Given the description of an element on the screen output the (x, y) to click on. 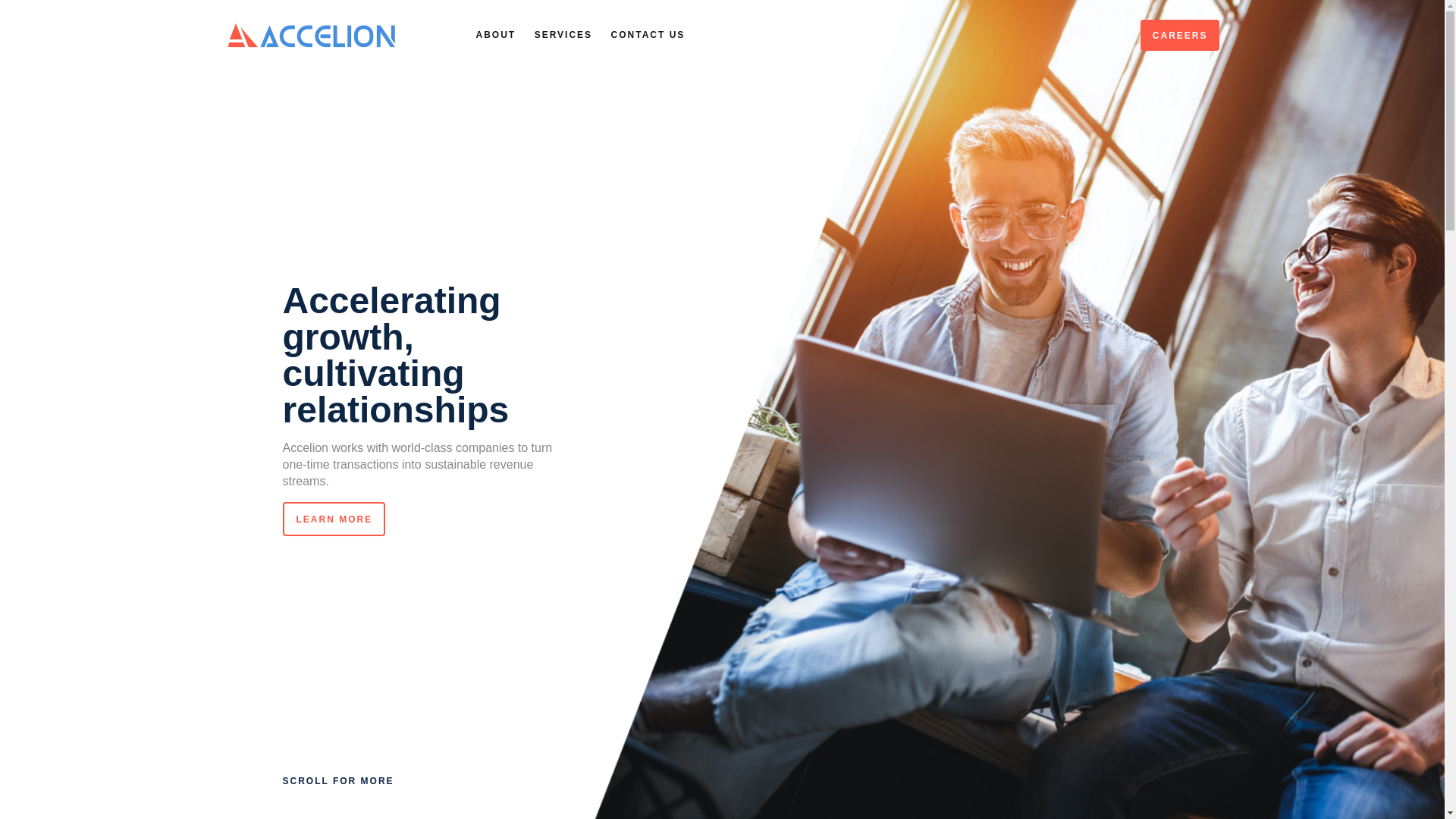
ABOUT (496, 34)
SCROLL FOR MORE (337, 780)
SCROLL FOR MORE (337, 780)
CAREERS (1180, 34)
SERVICES (563, 34)
LEARN MORE (333, 519)
CONTACT US (648, 34)
